Given the description of an element on the screen output the (x, y) to click on. 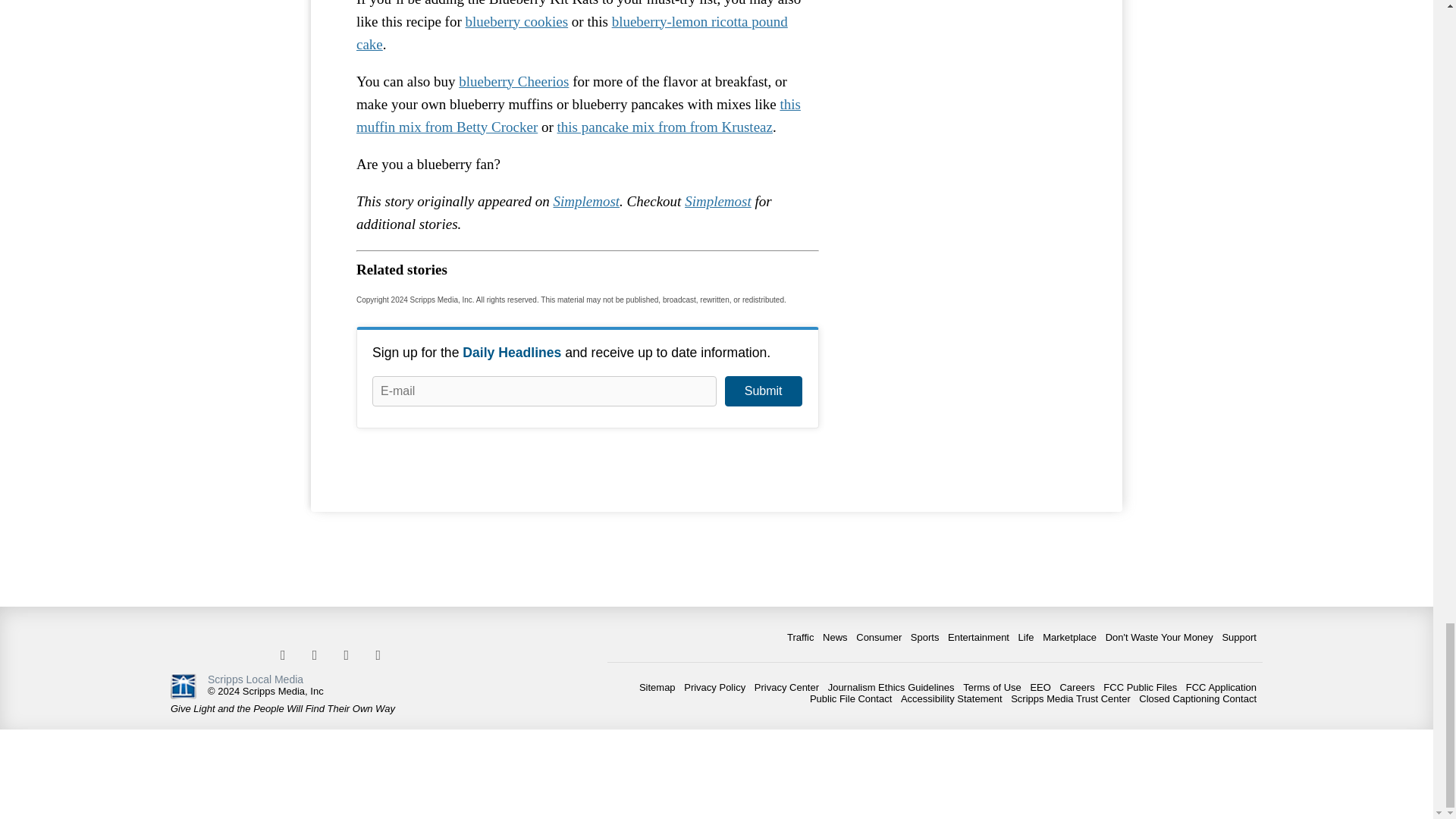
Submit (763, 390)
